Given the description of an element on the screen output the (x, y) to click on. 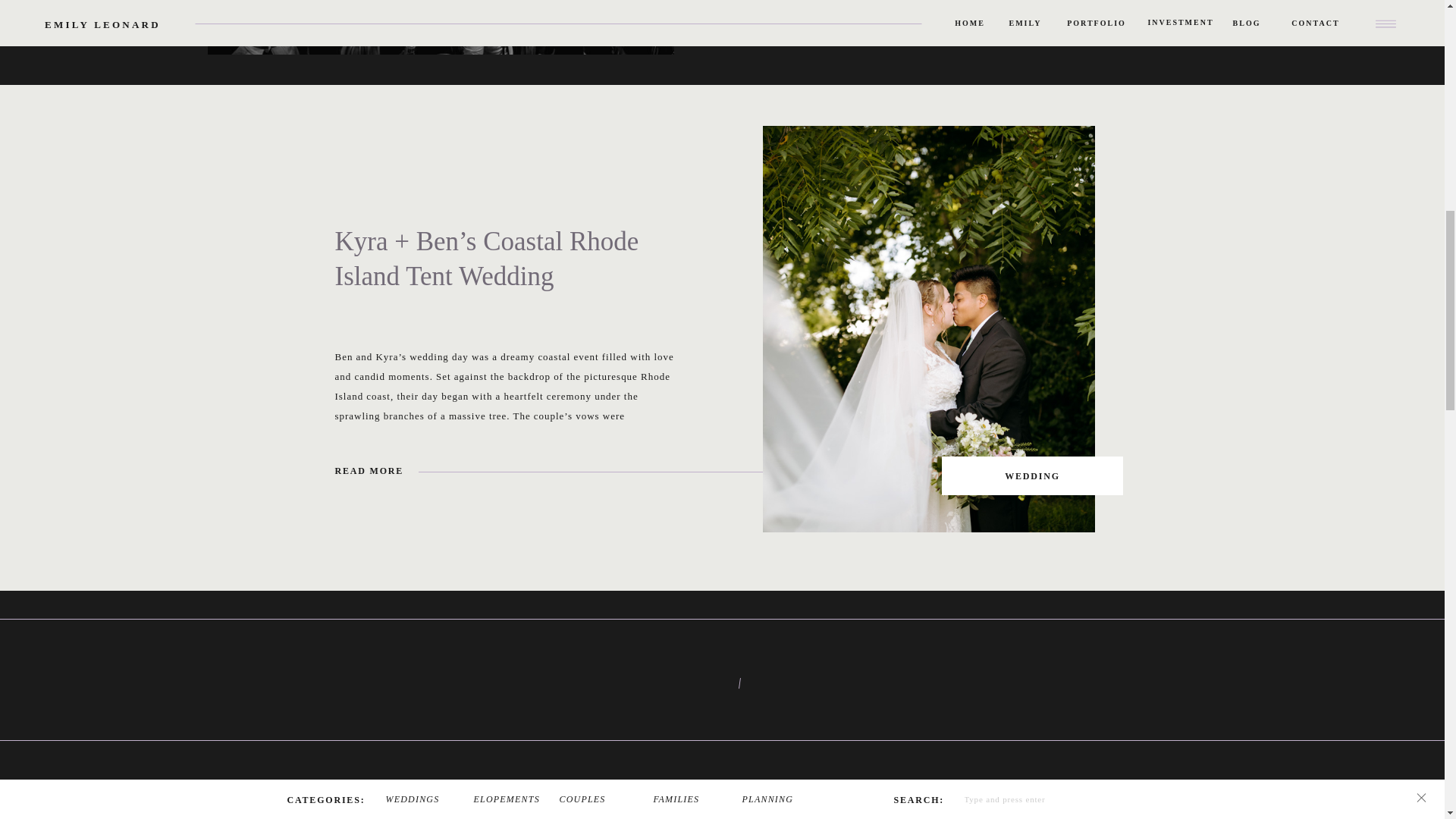
READ MORE (404, 470)
WEDDING (1031, 475)
Wedding Planning Tips (936, 17)
